Given the description of an element on the screen output the (x, y) to click on. 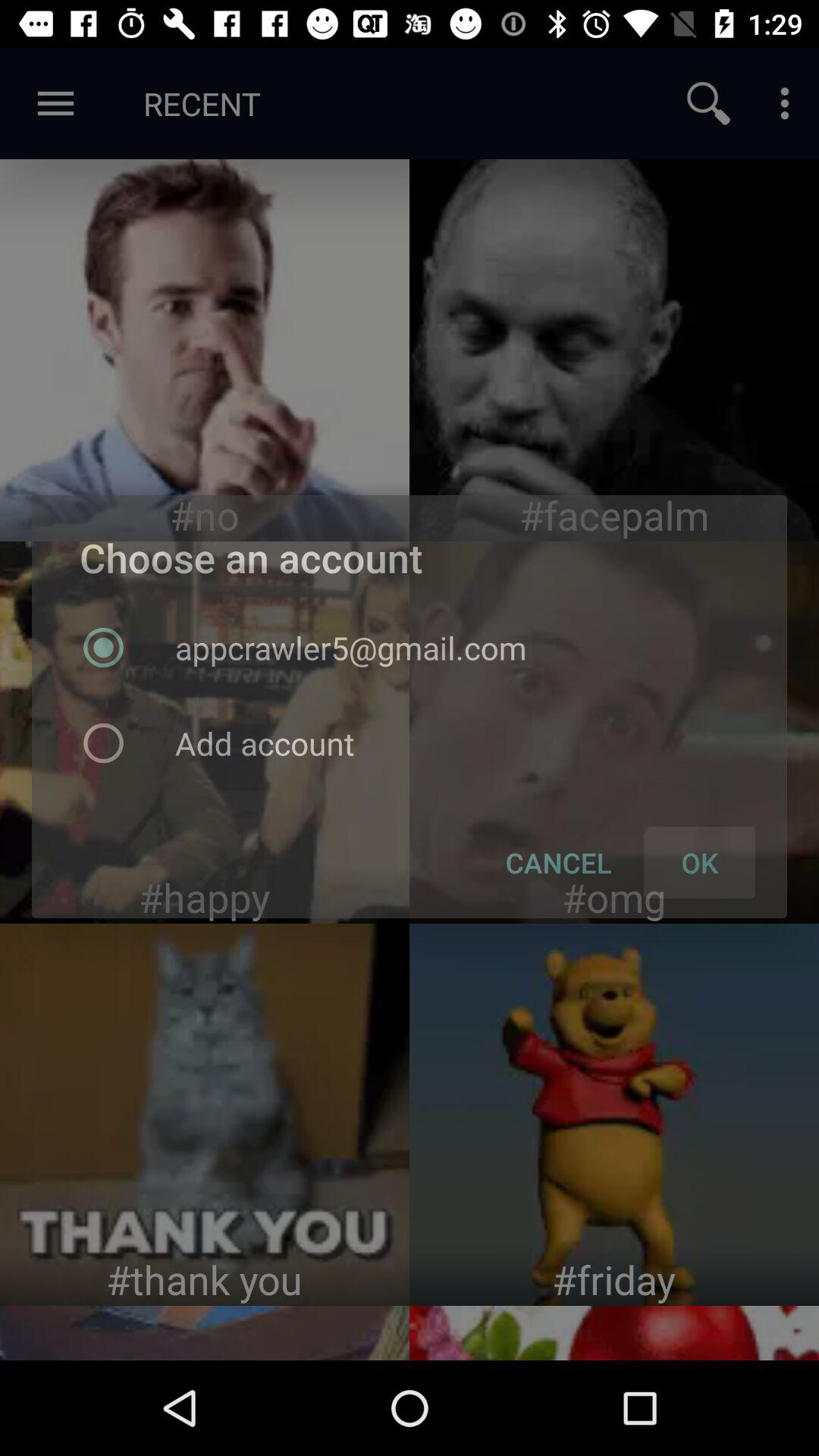
choose image (204, 1114)
